Given the description of an element on the screen output the (x, y) to click on. 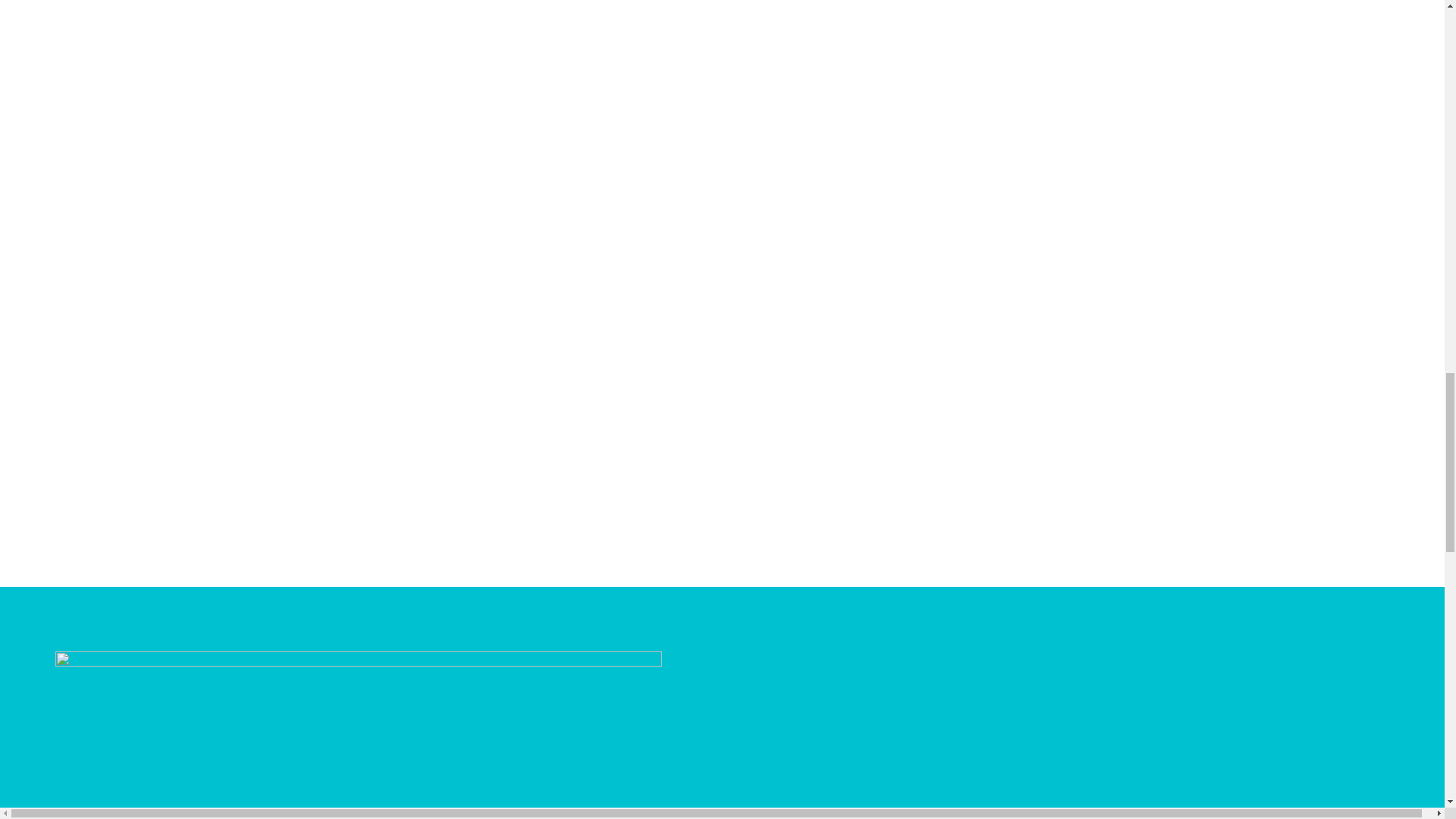
Learn More (42, 401)
Learn More (42, 401)
mobile-parallax-effect (358, 735)
